Given the description of an element on the screen output the (x, y) to click on. 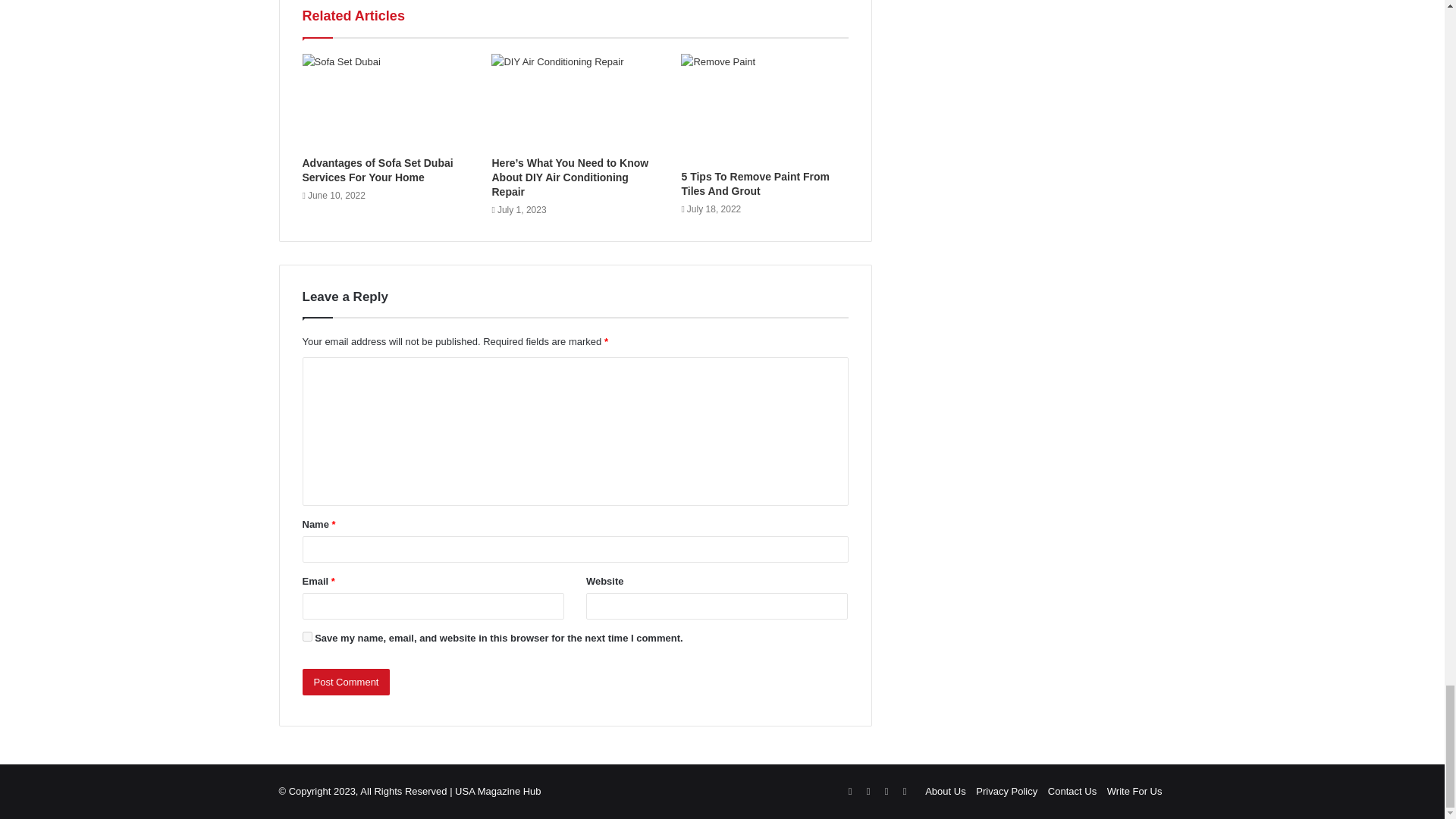
yes (306, 636)
Post Comment (345, 682)
